Given the description of an element on the screen output the (x, y) to click on. 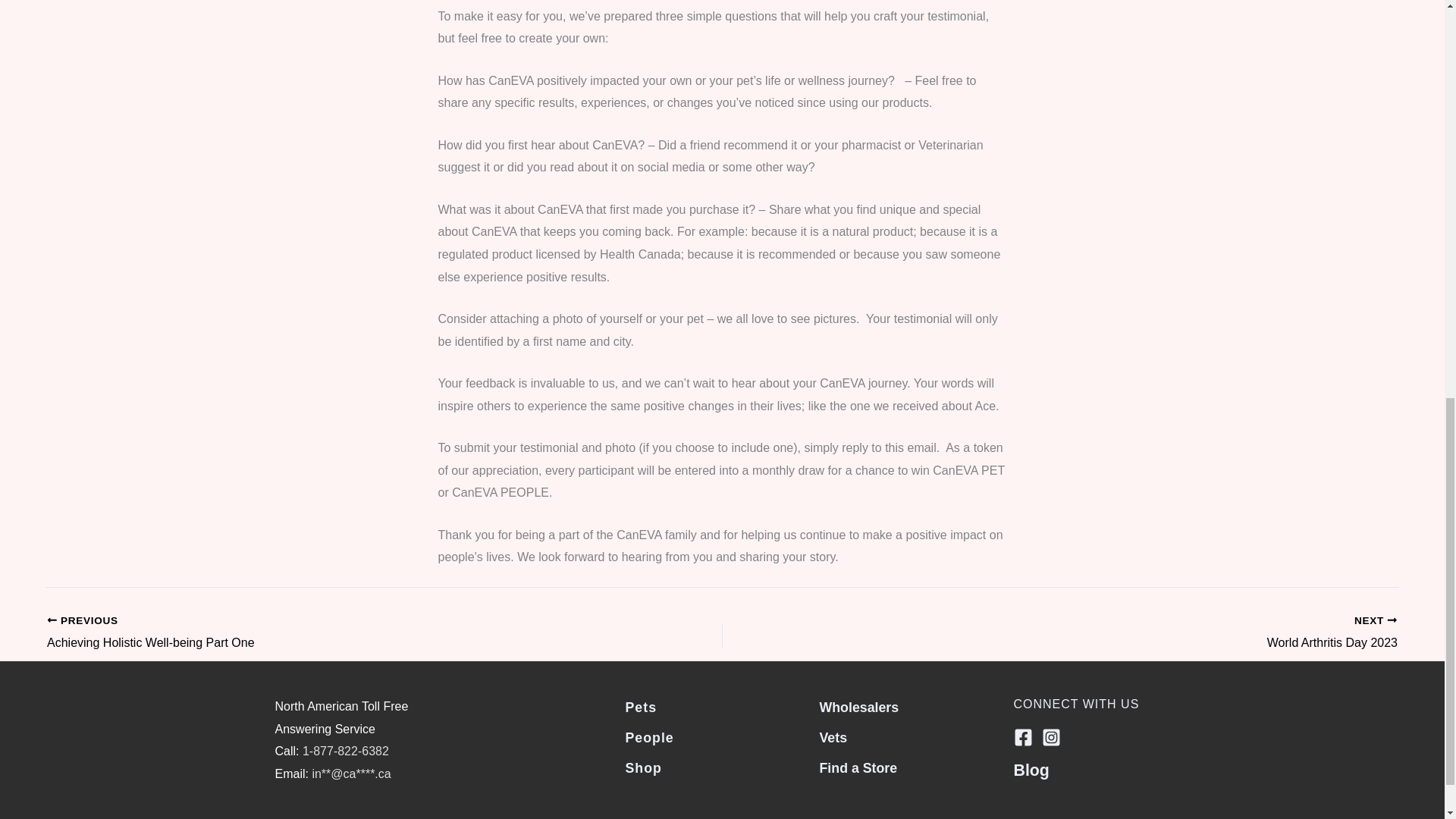
People (648, 737)
World Arthritis Day 2023 (1126, 632)
1-877-822-6382 (1126, 632)
Achieving Holistic Well-being Part One (345, 750)
Find a Store (317, 632)
Shop (857, 767)
Blog (642, 767)
Vets (1030, 770)
